Given the description of an element on the screen output the (x, y) to click on. 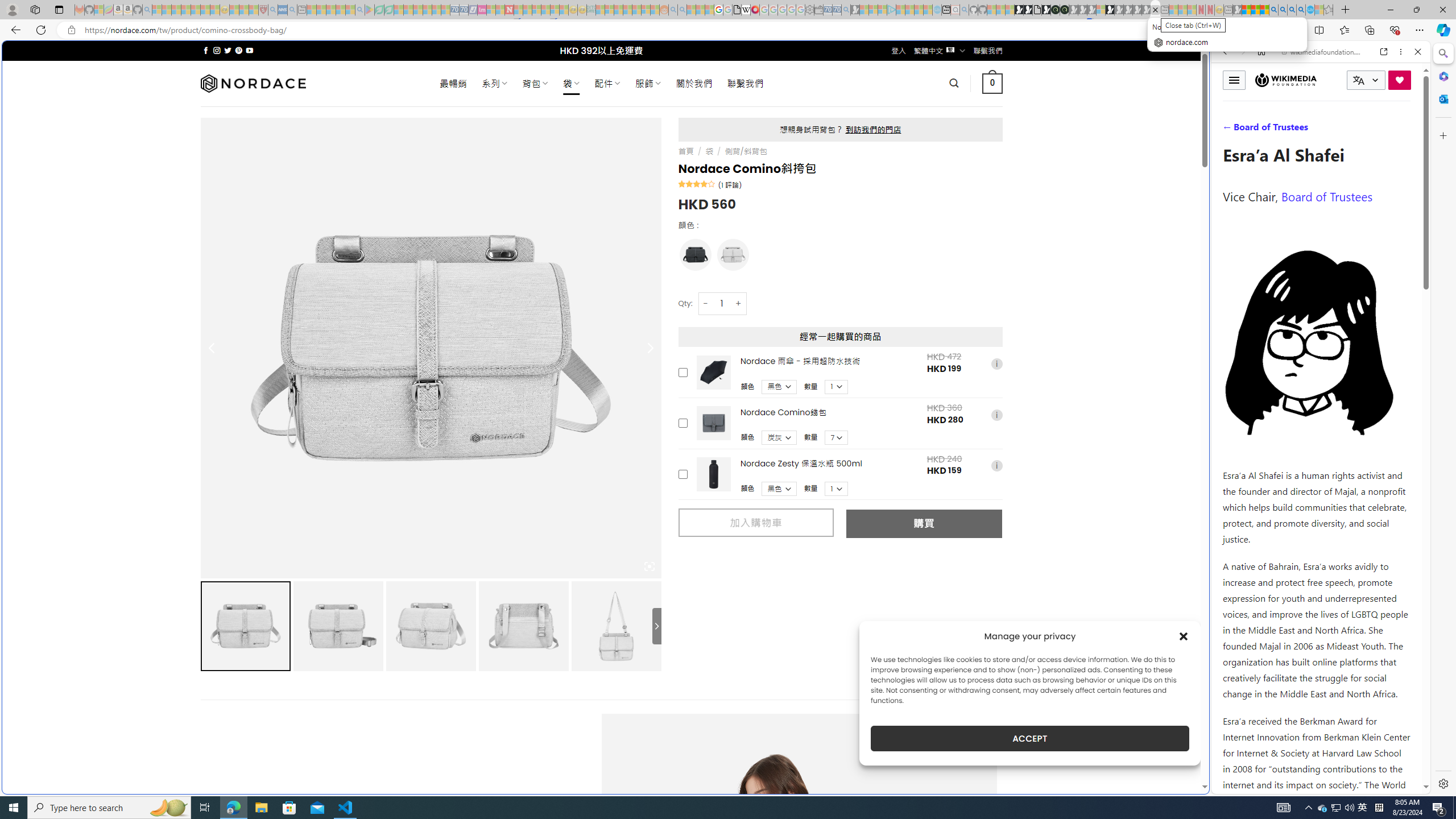
Close Outlook pane (1442, 98)
Restore (1416, 9)
Close tab (1155, 9)
Future Focus Report 2024 (1064, 9)
Address and search bar (647, 29)
MSNBC - MSN - Sleeping (600, 9)
  0   (992, 83)
Actions for this site (1370, 583)
